Given the description of an element on the screen output the (x, y) to click on. 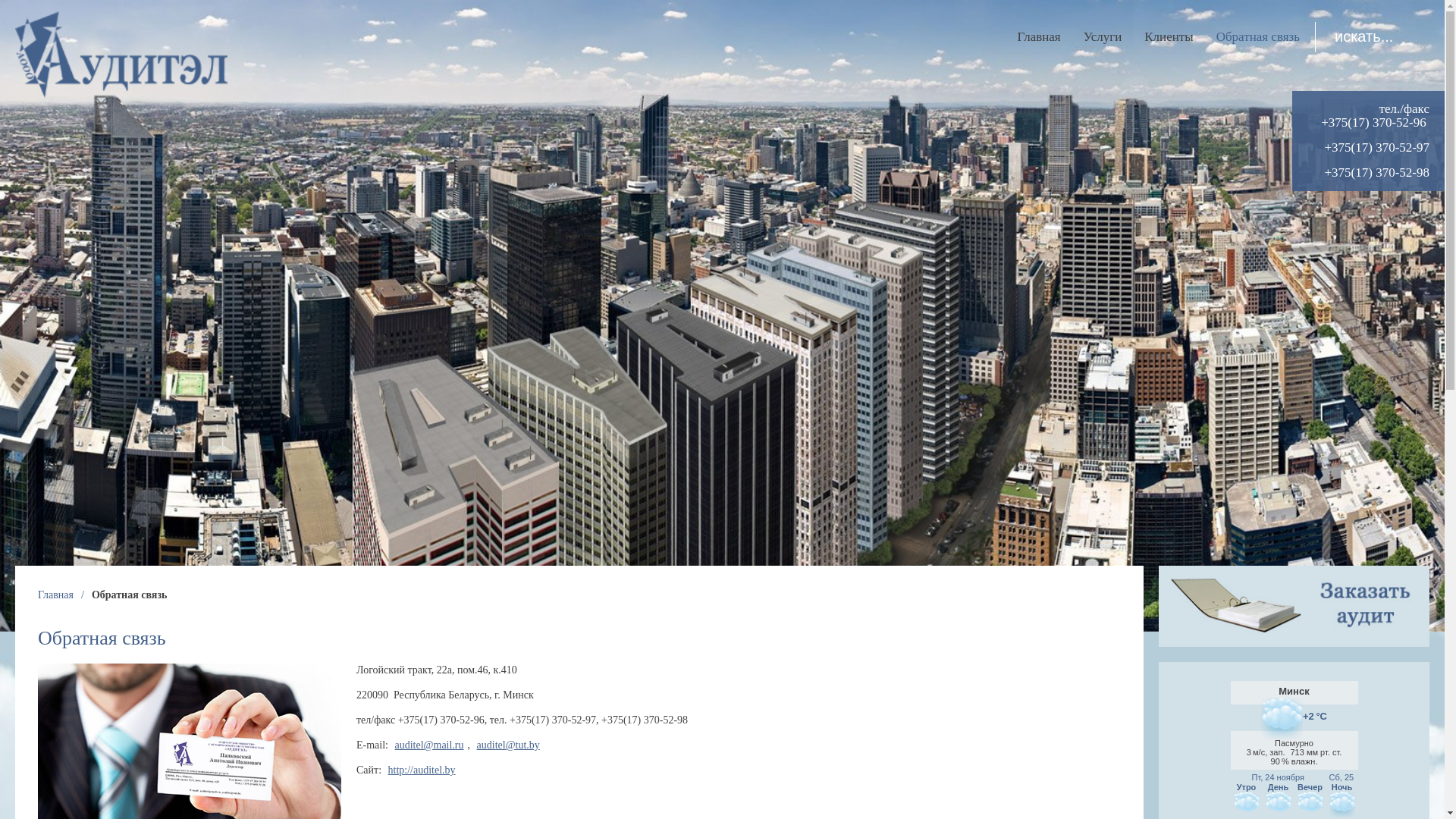
auditel@mail.ru Element type: text (429, 744)
http://auditel.by Element type: text (421, 769)
auditel@tut.by Element type: text (508, 744)
Reset Element type: text (7, 3)
